Given the description of an element on the screen output the (x, y) to click on. 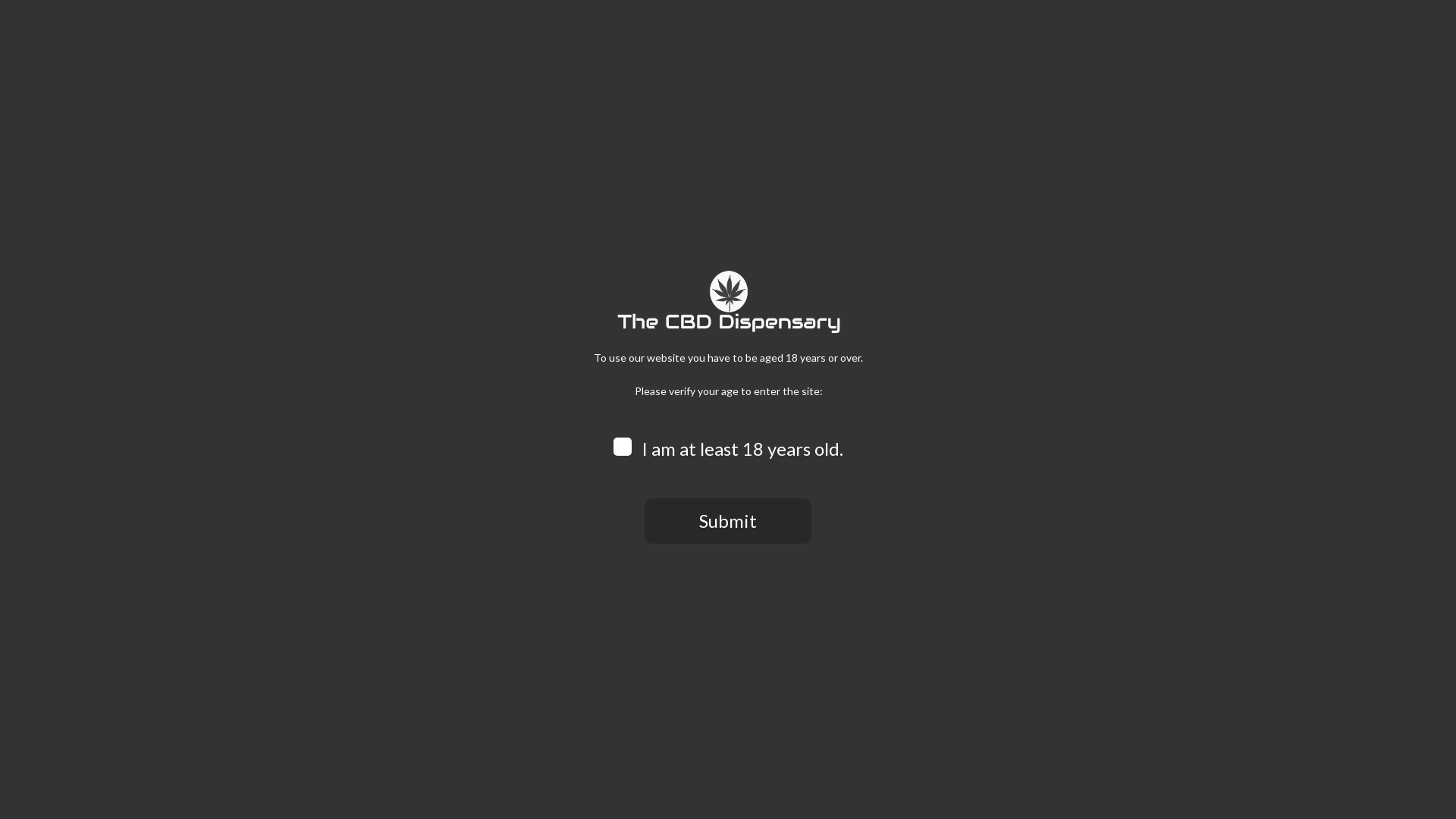
Follow on Twitter Element type: hover (288, 27)
SHOP Element type: text (614, 71)
HOME Element type: text (506, 71)
Email to a Friend Element type: hover (807, 643)
Share on Facebook Element type: hover (752, 643)
FIND A STOCKIST Element type: text (809, 71)
Send us an email Element type: hover (307, 27)
Share on Telegram Element type: hover (889, 643)
THE CBD CLUB Element type: text (680, 71)
Pin on Pinterest Element type: hover (834, 643)
Call us Element type: hover (327, 27)
ADDITIONAL INFORMATION Element type: text (405, 756)
CBD VAPING Element type: text (339, 109)
Follow on Facebook Element type: hover (248, 27)
Follow on Instagram Element type: hover (268, 27)
DESCRIPTION Element type: text (282, 756)
Share on Twitter Element type: hover (780, 643)
Share on Tumblr Element type: hover (862, 643)
CBD Vaping Element type: text (808, 610)
REVIEWS (0) Element type: text (522, 756)
ABOUT US Element type: text (558, 71)
tobacco 100mg 3% Element type: hover (477, 402)
SHOP Element type: text (257, 109)
LOGIN / REGISTER Element type: text (1055, 28)
ADD TO BASKET Element type: text (887, 524)
CONTACT US Element type: text (896, 71)
Zoom Element type: hover (258, 622)
BLOG Element type: text (741, 71)
Skip to content Element type: text (0, 0)
